Given the description of an element on the screen output the (x, y) to click on. 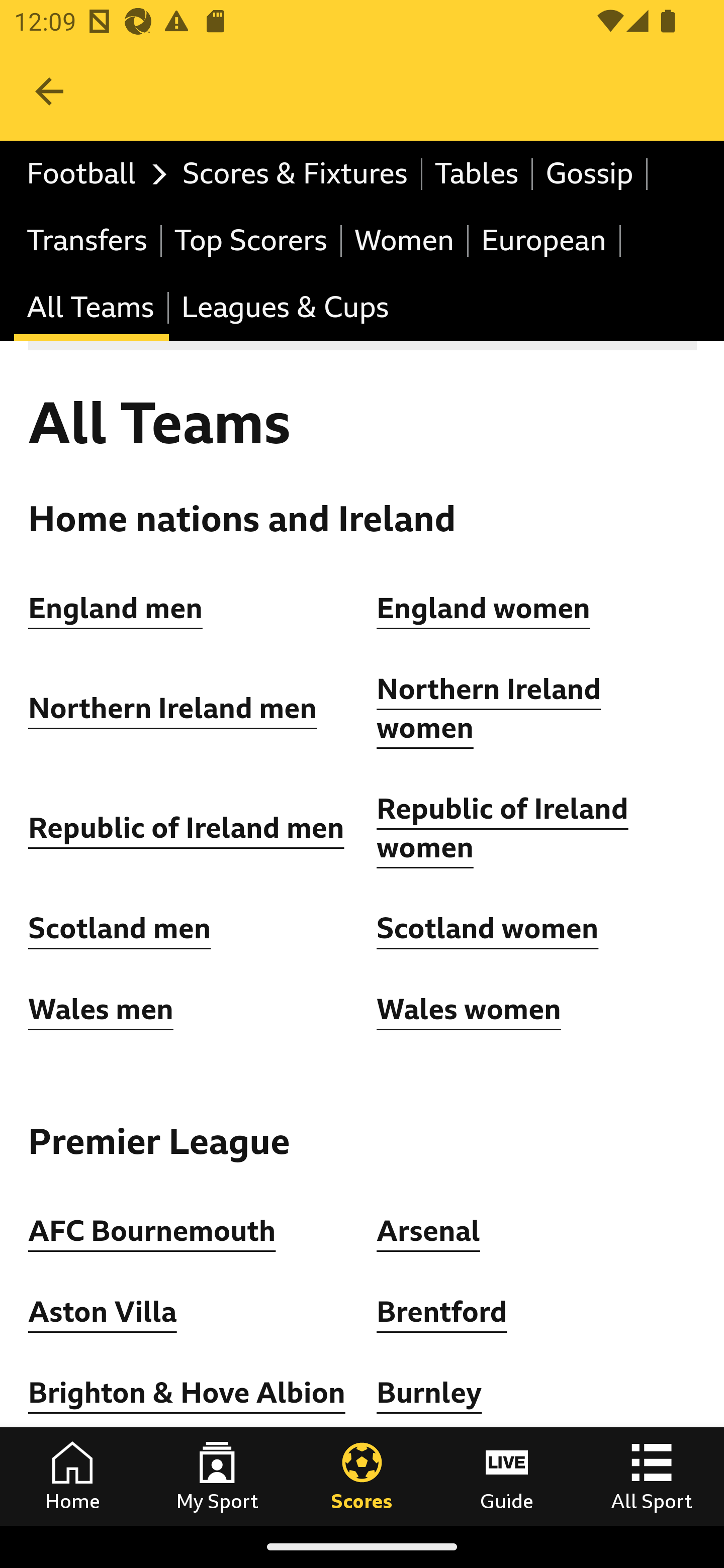
Navigate up (49, 91)
Football (91, 173)
Scores & Fixtures (295, 173)
Tables (477, 173)
Gossip (590, 173)
Transfers (88, 240)
Top Scorers (251, 240)
Women (405, 240)
European (544, 240)
All Teams (91, 308)
Leagues & Cups (284, 308)
England men (116, 608)
England women (483, 608)
Northern Ireland women (488, 709)
Northern Ireland men (173, 708)
Republic of Ireland women (502, 828)
Republic of Ireland men (186, 827)
Scotland men (120, 929)
Scotland women (487, 929)
Wales men (100, 1009)
Wales women (468, 1009)
AFC Bournemouth (151, 1230)
Arsenal (428, 1230)
Aston Villa (102, 1312)
Brentford (442, 1312)
Brighton & Hove Albion (187, 1393)
Burnley (429, 1393)
Home (72, 1475)
My Sport (216, 1475)
Guide (506, 1475)
All Sport (651, 1475)
